Given the description of an element on the screen output the (x, y) to click on. 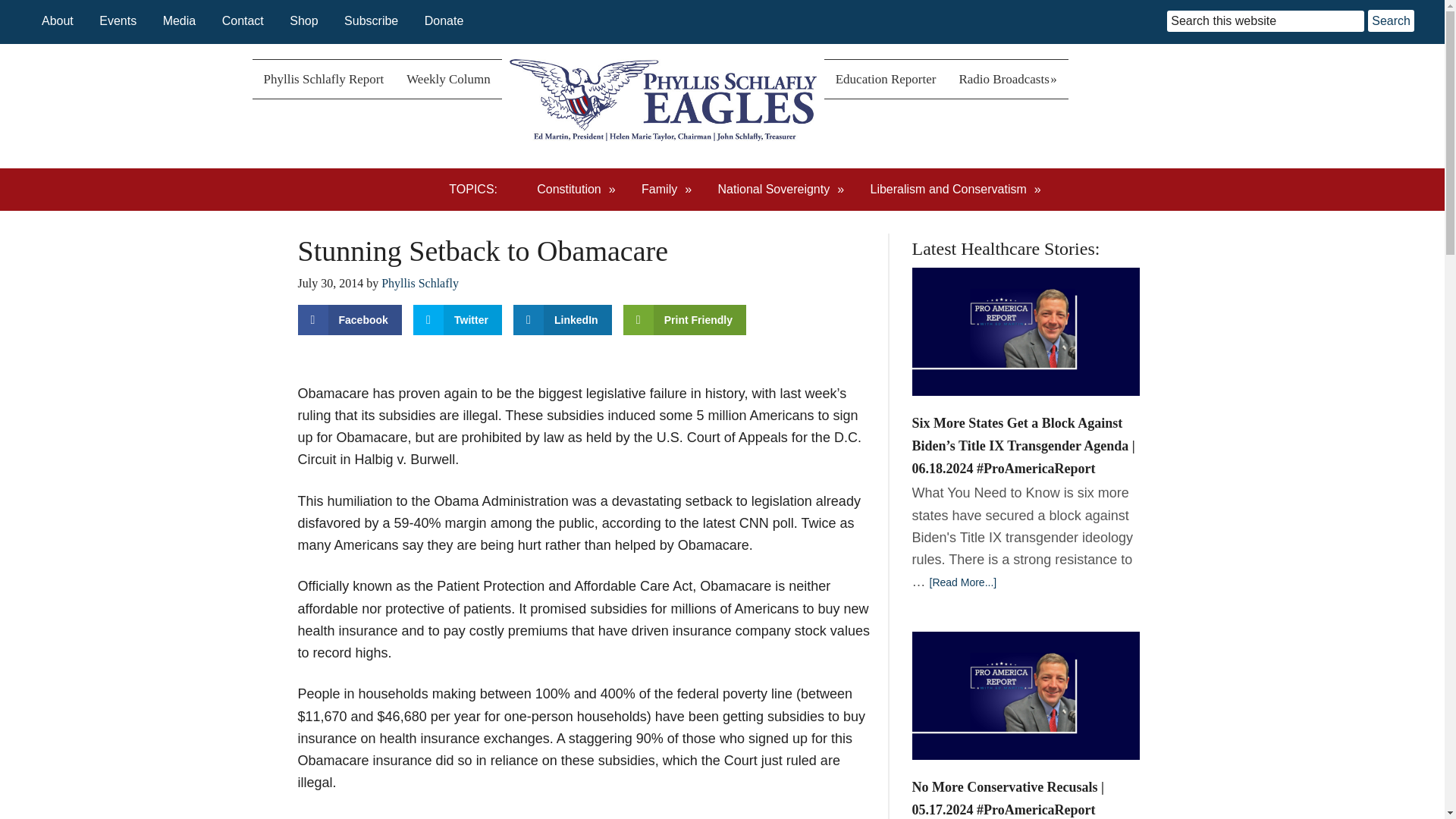
Radio Broadcasts (1007, 78)
Education Reporter (885, 78)
Phyllis Schlafly Report (322, 78)
Donate (444, 20)
Shop (303, 20)
Events (117, 20)
About (58, 20)
Subscribe (370, 20)
Search (1390, 20)
Weekly Column (448, 78)
Search (1390, 20)
Media (179, 20)
TOPICS:     (480, 189)
Constitution   (575, 189)
Contact (242, 20)
